Given the description of an element on the screen output the (x, y) to click on. 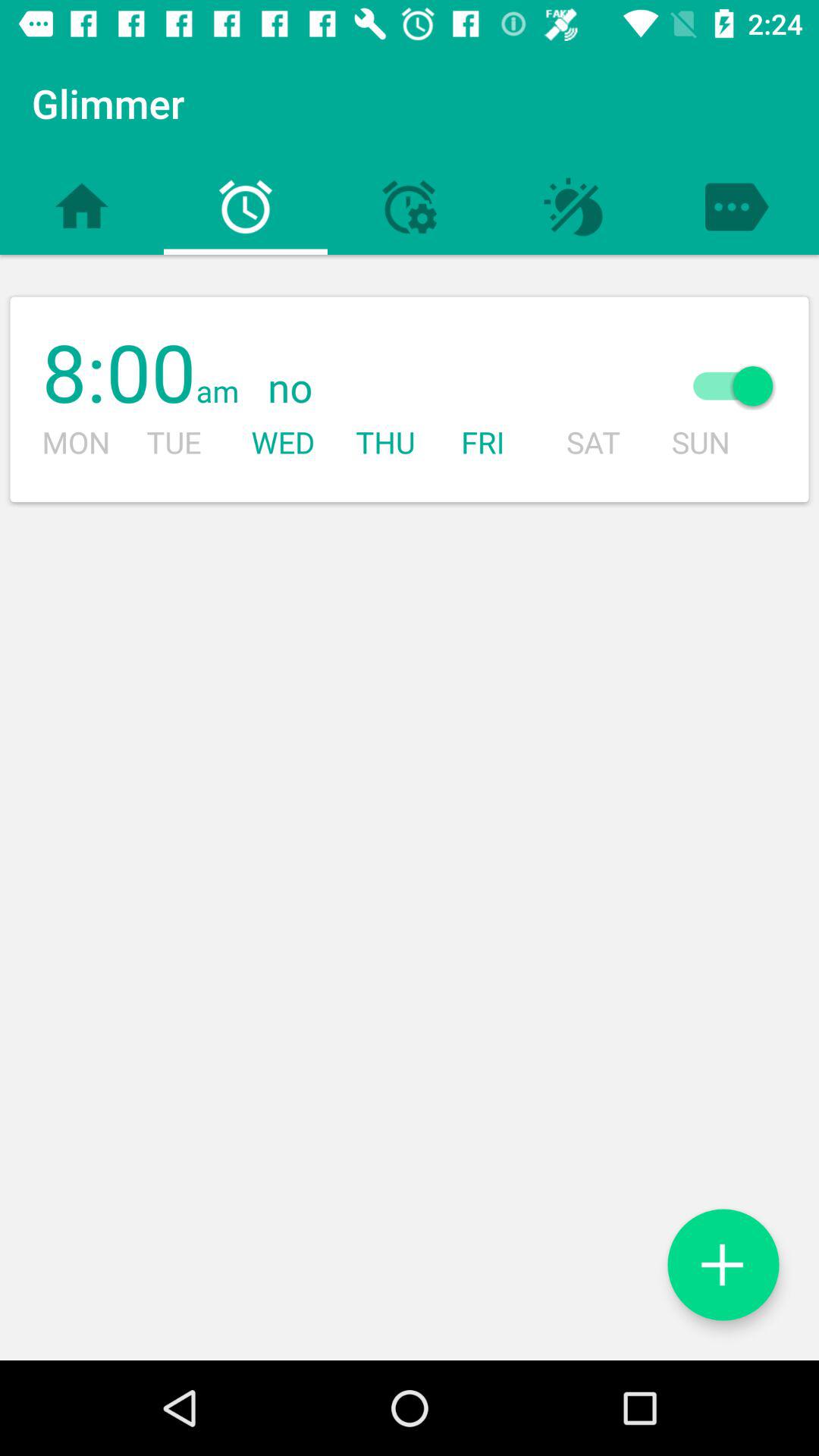
turn on the icon to the right of the am icon (443, 388)
